Given the description of an element on the screen output the (x, y) to click on. 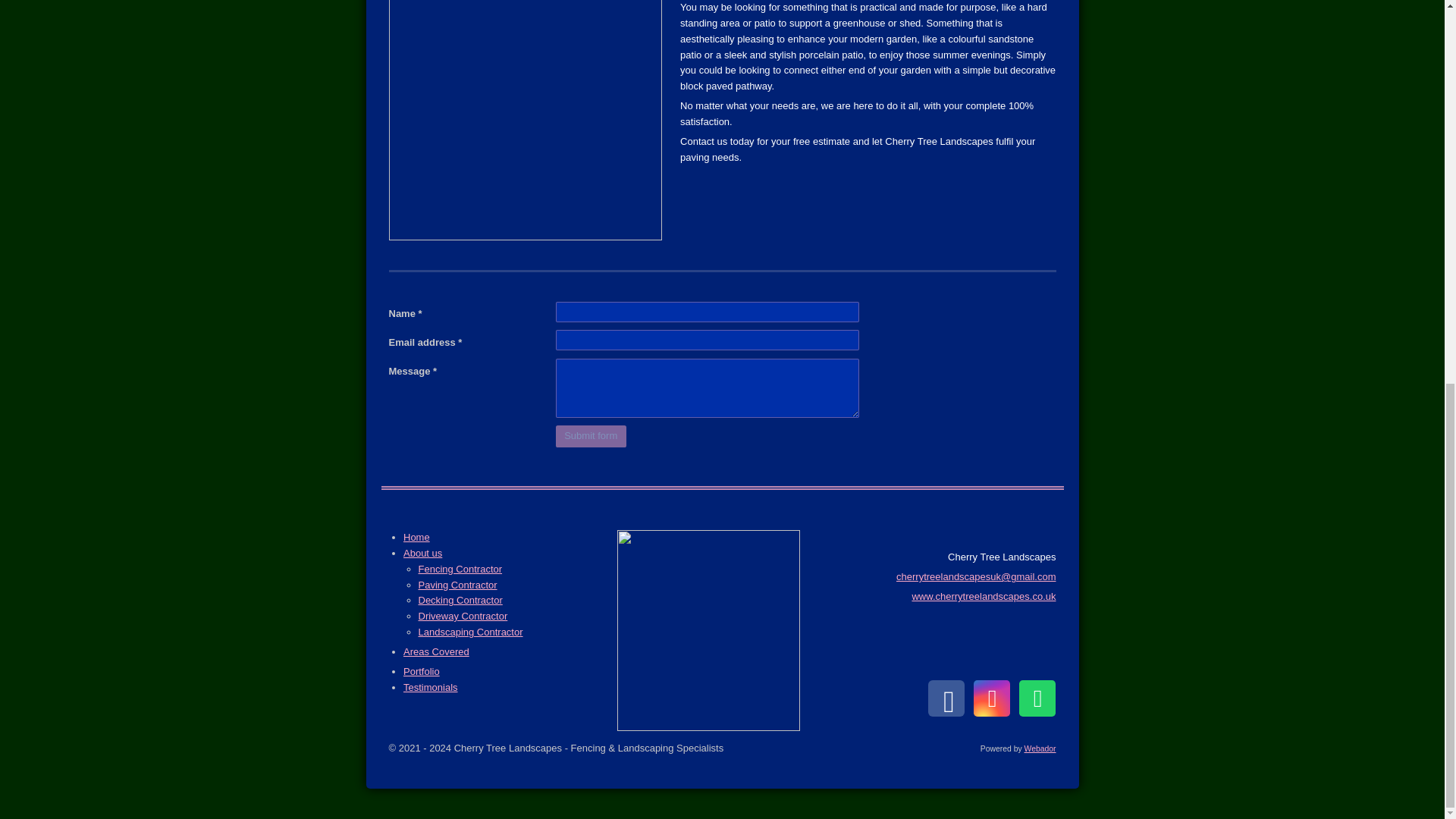
Decking Contractor (460, 600)
Areas Covered (435, 651)
www.cherrytreelandscapes.co.uk (983, 595)
Submit form (590, 436)
Testimonials (430, 686)
About us (422, 552)
Driveway Contractor (463, 615)
Webador (1041, 748)
Landscaping Contractor (470, 632)
Fencing Contractor (460, 568)
